Given the description of an element on the screen output the (x, y) to click on. 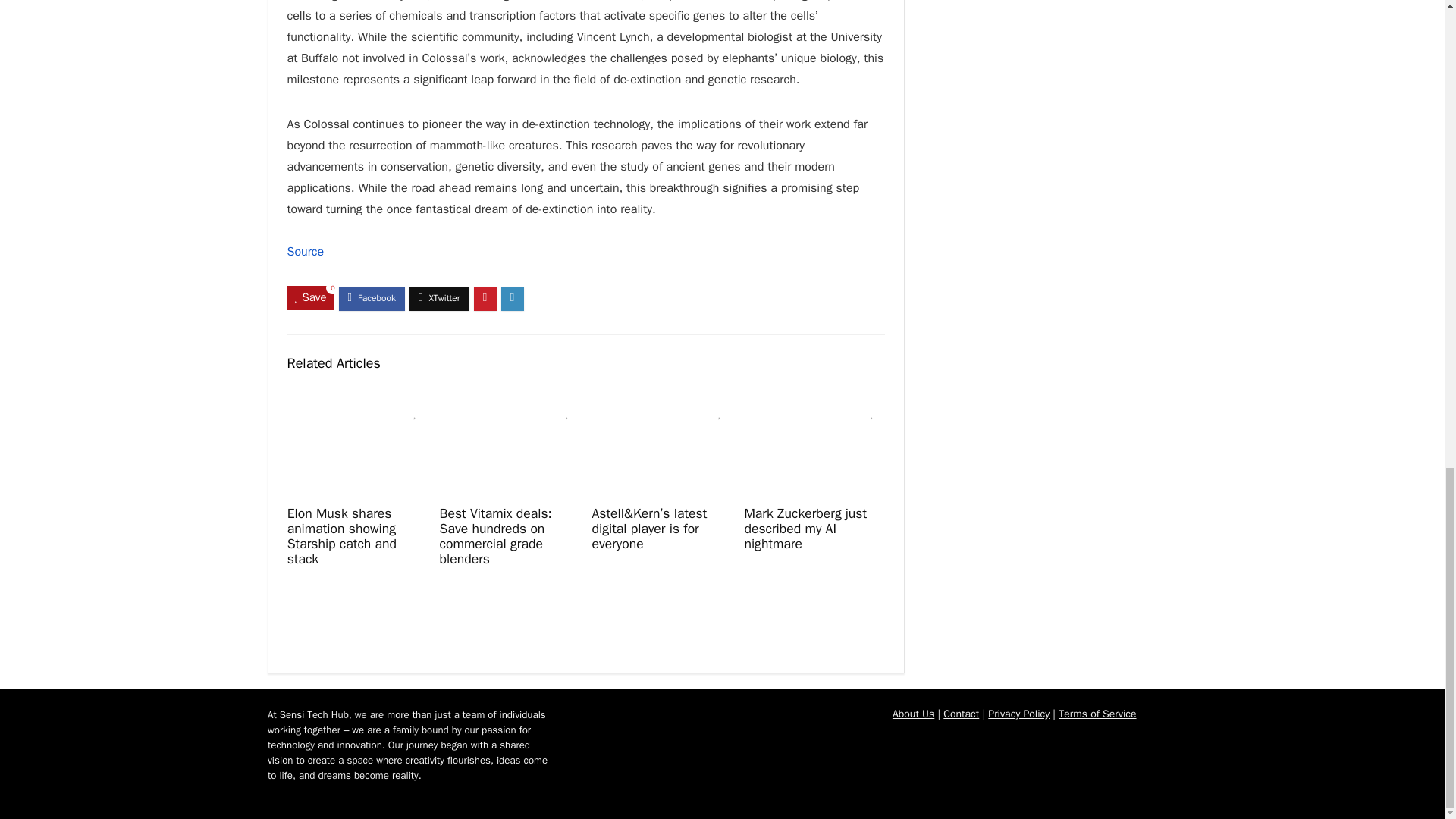
Elon Musk shares animation showing Starship catch and stack (341, 536)
Source (304, 251)
